Given the description of an element on the screen output the (x, y) to click on. 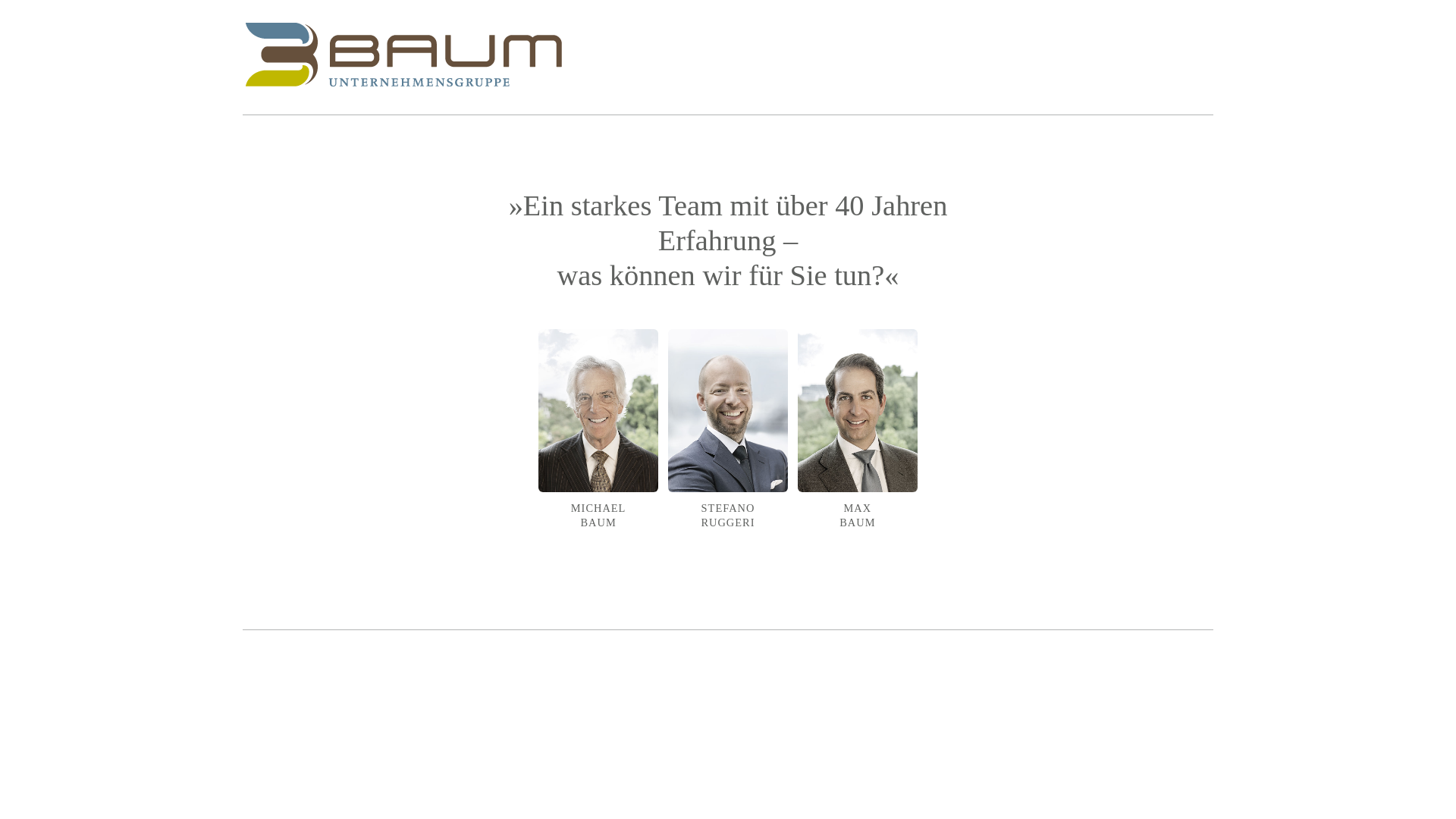
STEFANO
RUGGERI Element type: text (727, 442)
MAX
BAUM Element type: text (857, 442)
MICHAEL
BAUM Element type: text (598, 442)
